Given the description of an element on the screen output the (x, y) to click on. 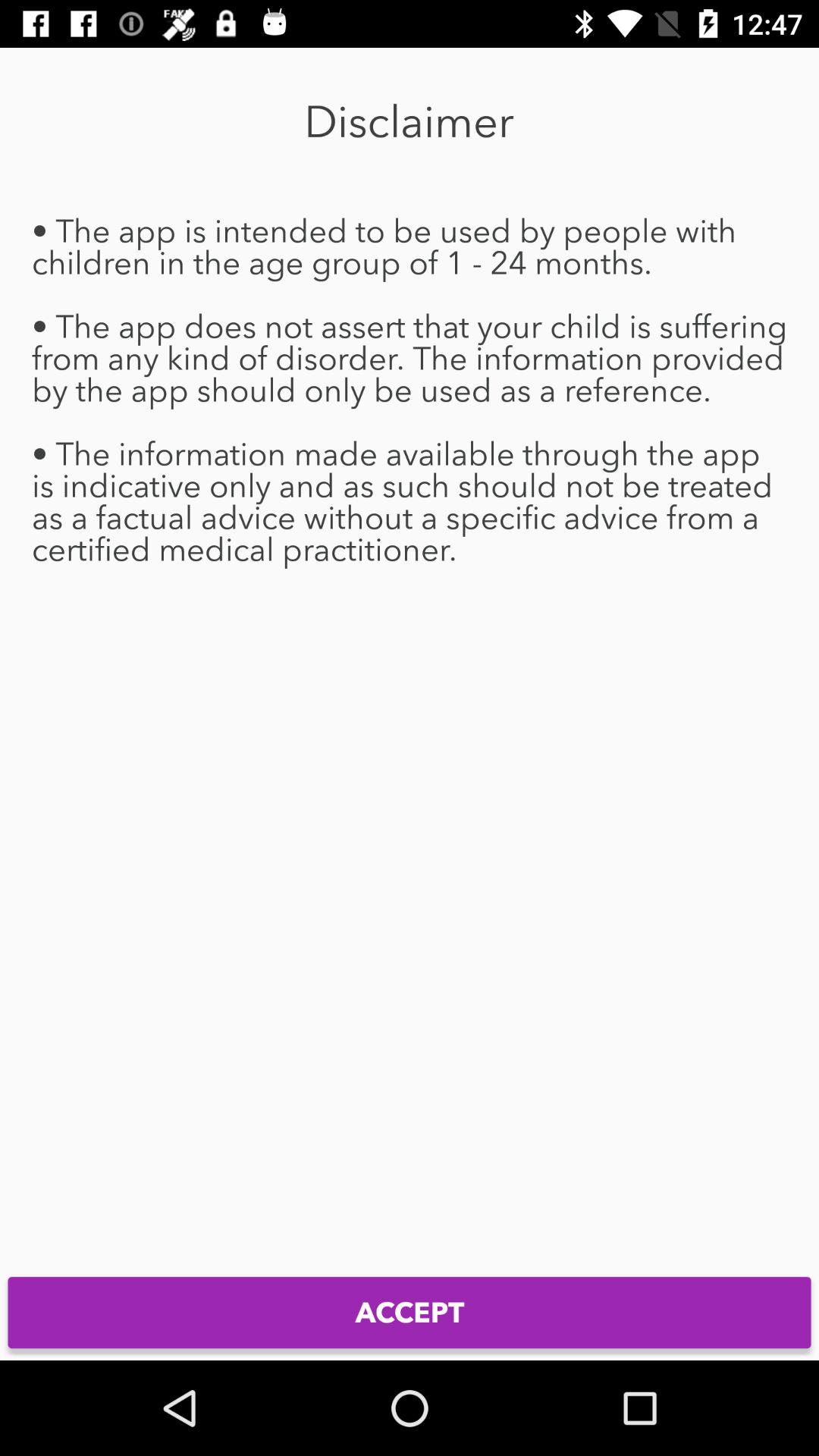
select the accept icon (409, 1312)
